Given the description of an element on the screen output the (x, y) to click on. 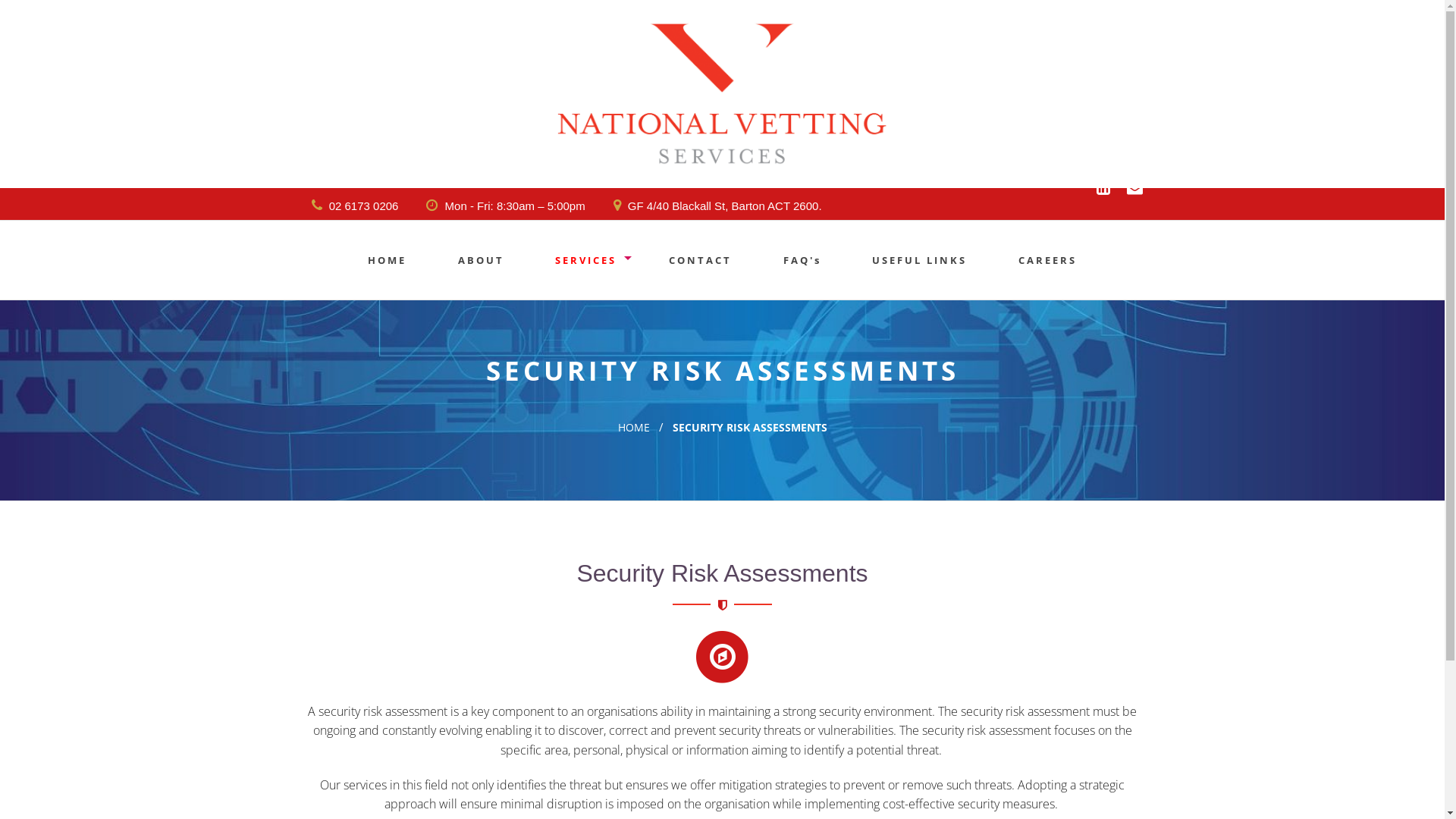
CAREERS Element type: text (1047, 258)
SERVICES Element type: text (586, 258)
HOME Element type: text (633, 427)
USEFUL LINKS Element type: text (919, 258)
CONTACT Element type: text (700, 258)
FAQ's Element type: text (802, 258)
ABOUT Element type: text (481, 258)
HOME Element type: text (387, 258)
02 6173 0206 Element type: text (354, 206)
